Given the description of an element on the screen output the (x, y) to click on. 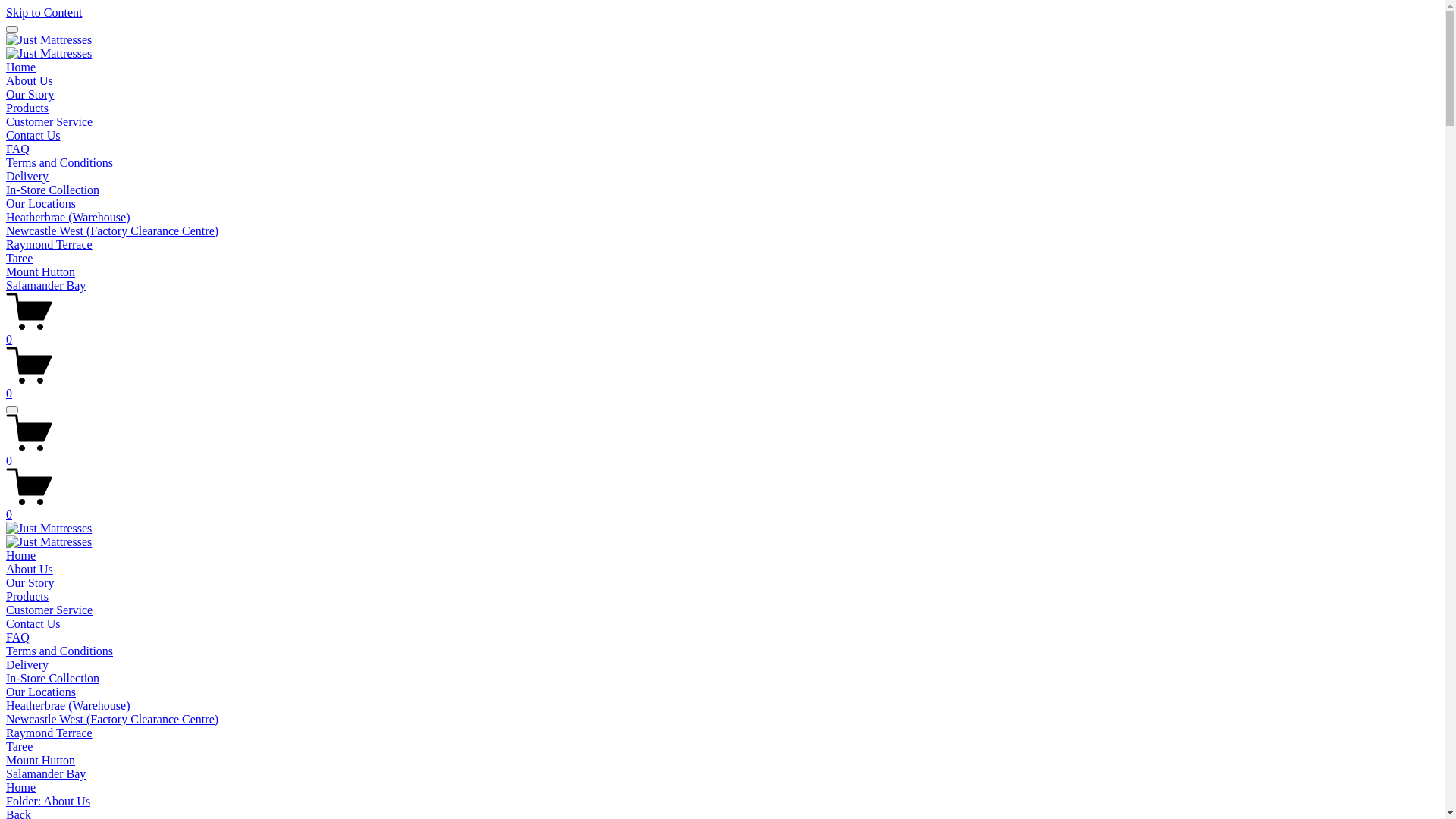
Heatherbrae (Warehouse) Element type: text (68, 705)
Home Element type: text (20, 66)
0 Element type: text (722, 453)
Taree Element type: text (19, 257)
Salamander Bay Element type: text (45, 285)
Terms and Conditions Element type: text (59, 650)
Mount Hutton Element type: text (40, 759)
Raymond Terrace Element type: text (49, 244)
About Us Element type: text (29, 568)
0 Element type: text (722, 507)
Newcastle West (Factory Clearance Centre) Element type: text (112, 230)
Heatherbrae (Warehouse) Element type: text (68, 216)
Raymond Terrace Element type: text (49, 732)
Salamander Bay Element type: text (45, 773)
Customer Service Element type: text (49, 609)
Newcastle West (Factory Clearance Centre) Element type: text (112, 718)
Our Story Element type: text (30, 582)
Skip to Content Element type: text (43, 12)
Products Element type: text (27, 107)
Products Element type: text (27, 595)
Our Story Element type: text (30, 93)
0 Element type: text (722, 386)
Folder: About Us Element type: text (722, 801)
In-Store Collection Element type: text (52, 189)
FAQ Element type: text (17, 148)
Home Element type: text (20, 555)
Delivery Element type: text (27, 175)
Home Element type: text (722, 787)
About Us Element type: text (29, 80)
Customer Service Element type: text (49, 121)
In-Store Collection Element type: text (52, 677)
Our Locations Element type: text (40, 691)
FAQ Element type: text (17, 636)
Delivery Element type: text (27, 664)
0 Element type: text (722, 332)
Terms and Conditions Element type: text (59, 162)
Contact Us Element type: text (33, 134)
Our Locations Element type: text (40, 203)
Taree Element type: text (19, 746)
Contact Us Element type: text (33, 623)
Mount Hutton Element type: text (40, 271)
